Given the description of an element on the screen output the (x, y) to click on. 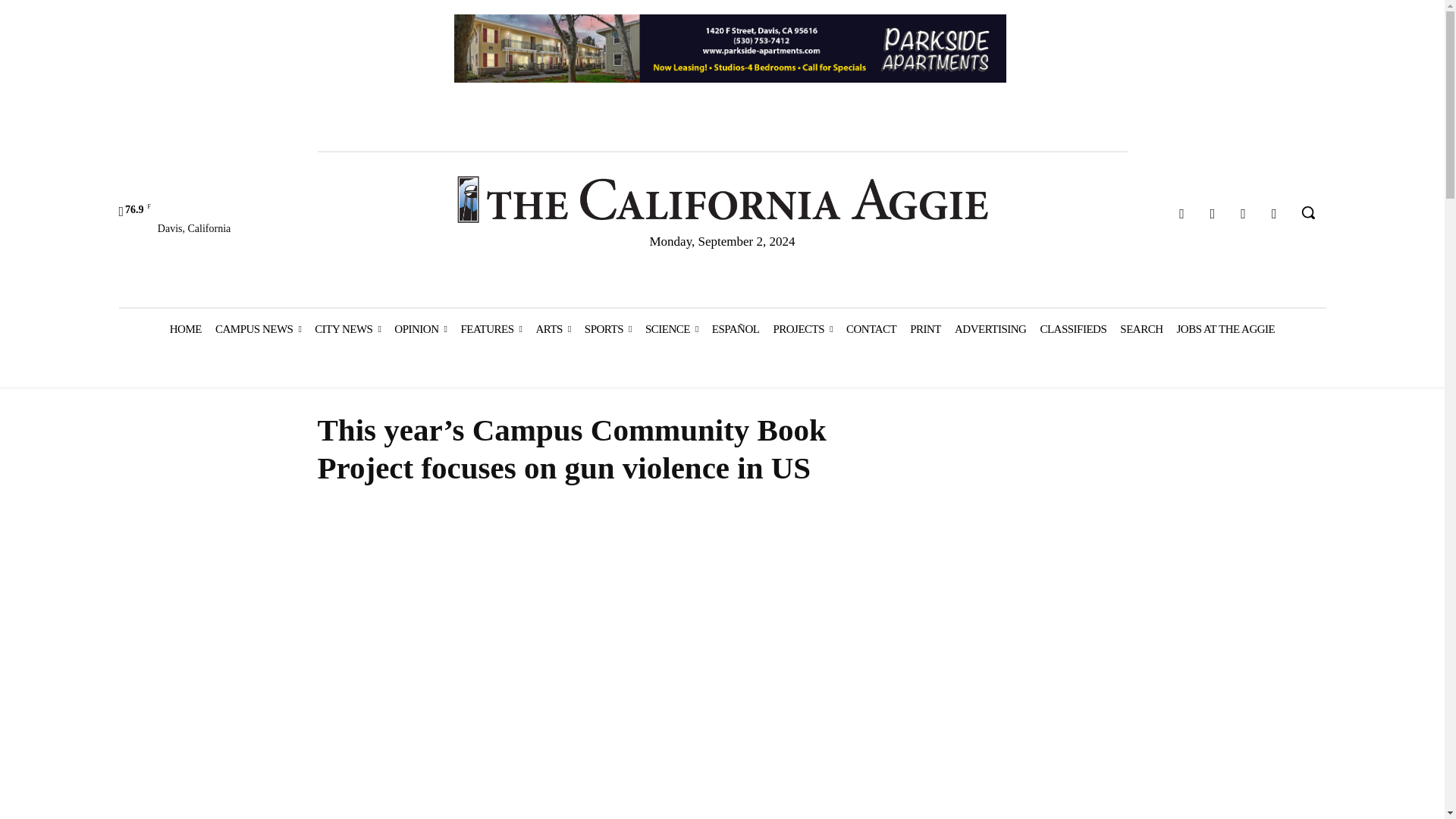
Instagram (1212, 214)
CAMPUS NEWS (257, 329)
HOME (185, 329)
Twitter (1243, 214)
Youtube (1273, 214)
Facebook (1181, 214)
